Given the description of an element on the screen output the (x, y) to click on. 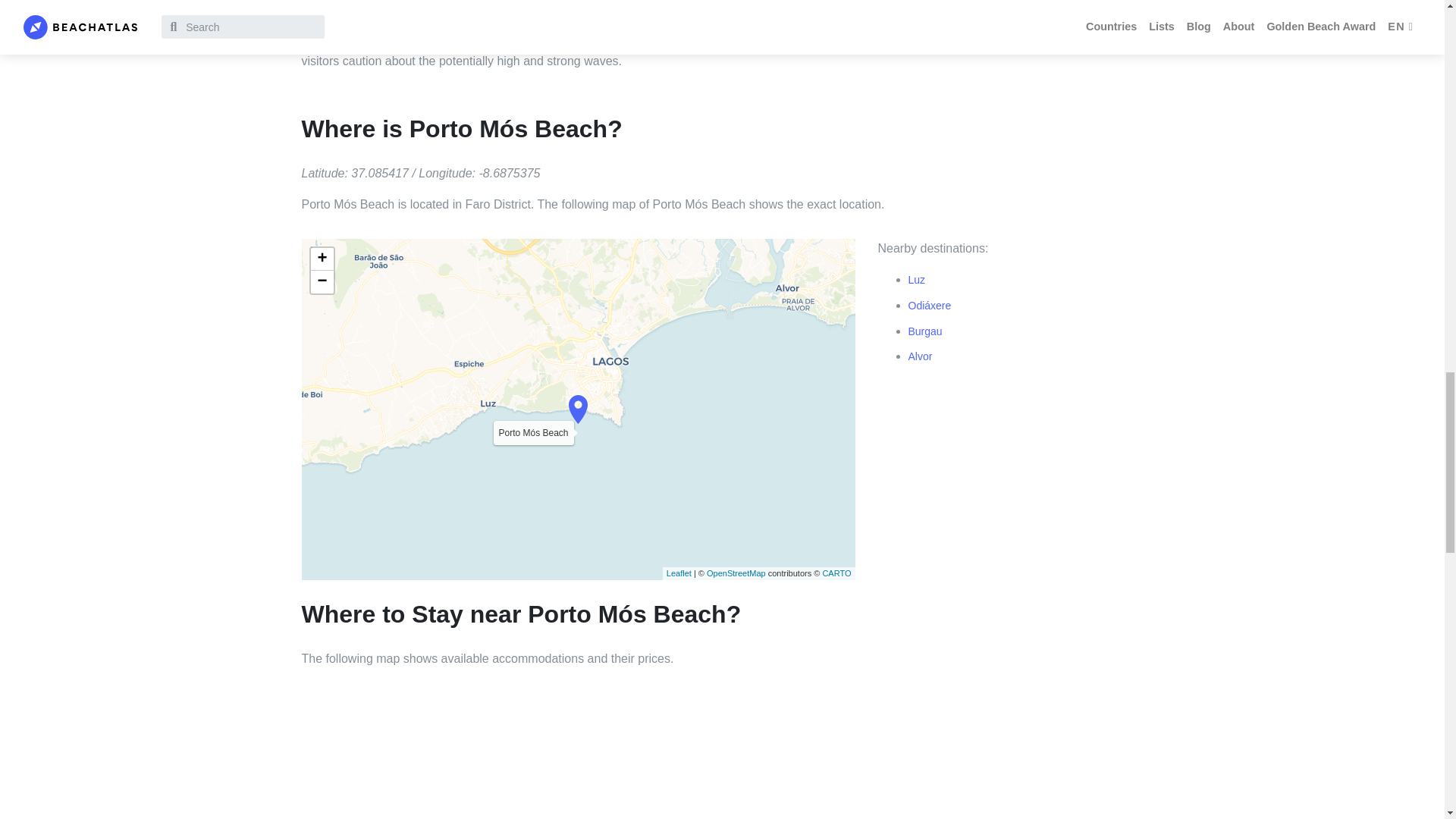
A JS library for interactive maps (678, 573)
CARTO (836, 573)
OpenStreetMap (735, 573)
Leaflet (678, 573)
Zoom in (322, 259)
Zoom out (322, 282)
